Given the description of an element on the screen output the (x, y) to click on. 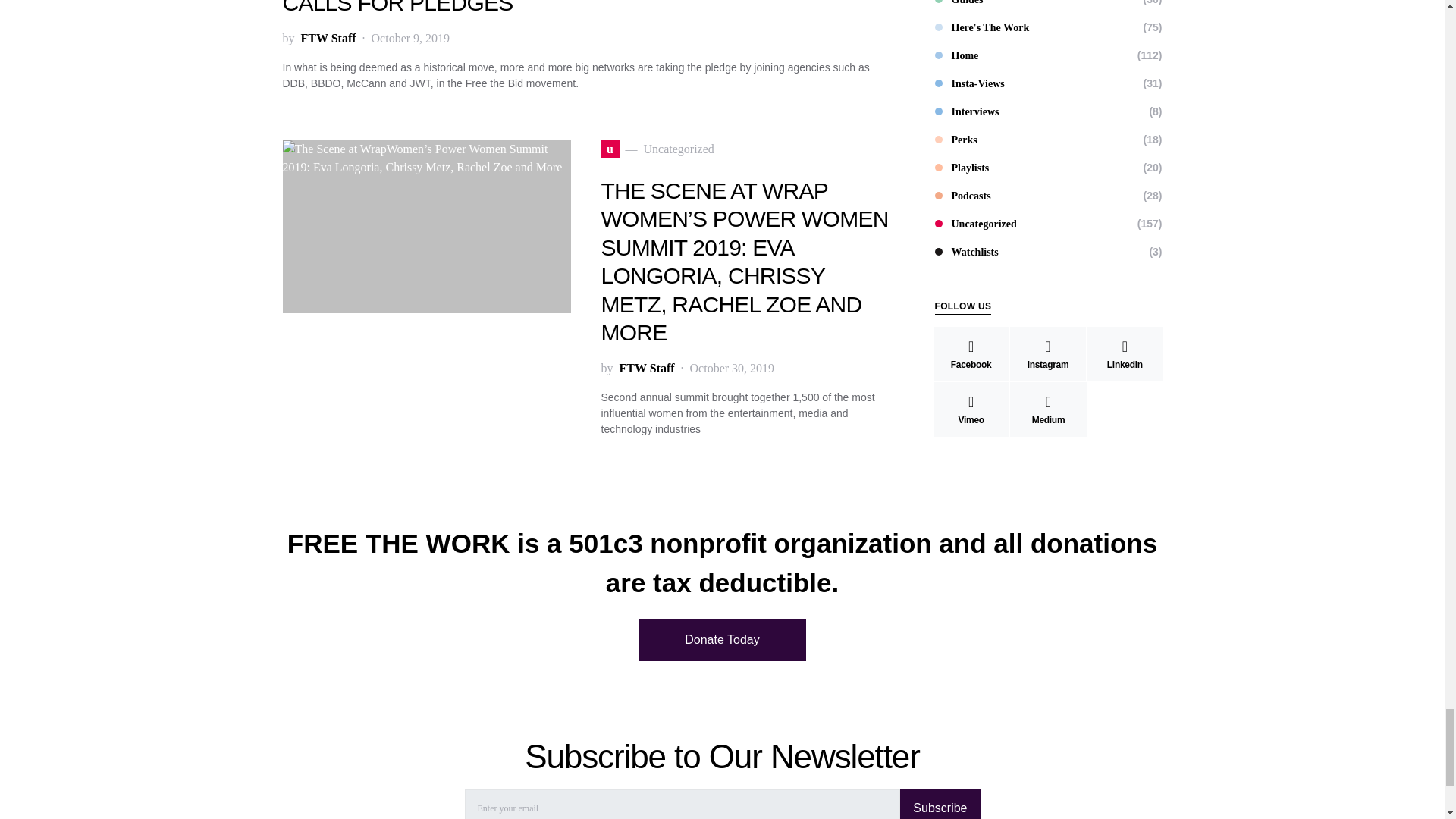
View all posts by FTW Staff (646, 368)
View all posts by FTW Staff (327, 38)
